Given the description of an element on the screen output the (x, y) to click on. 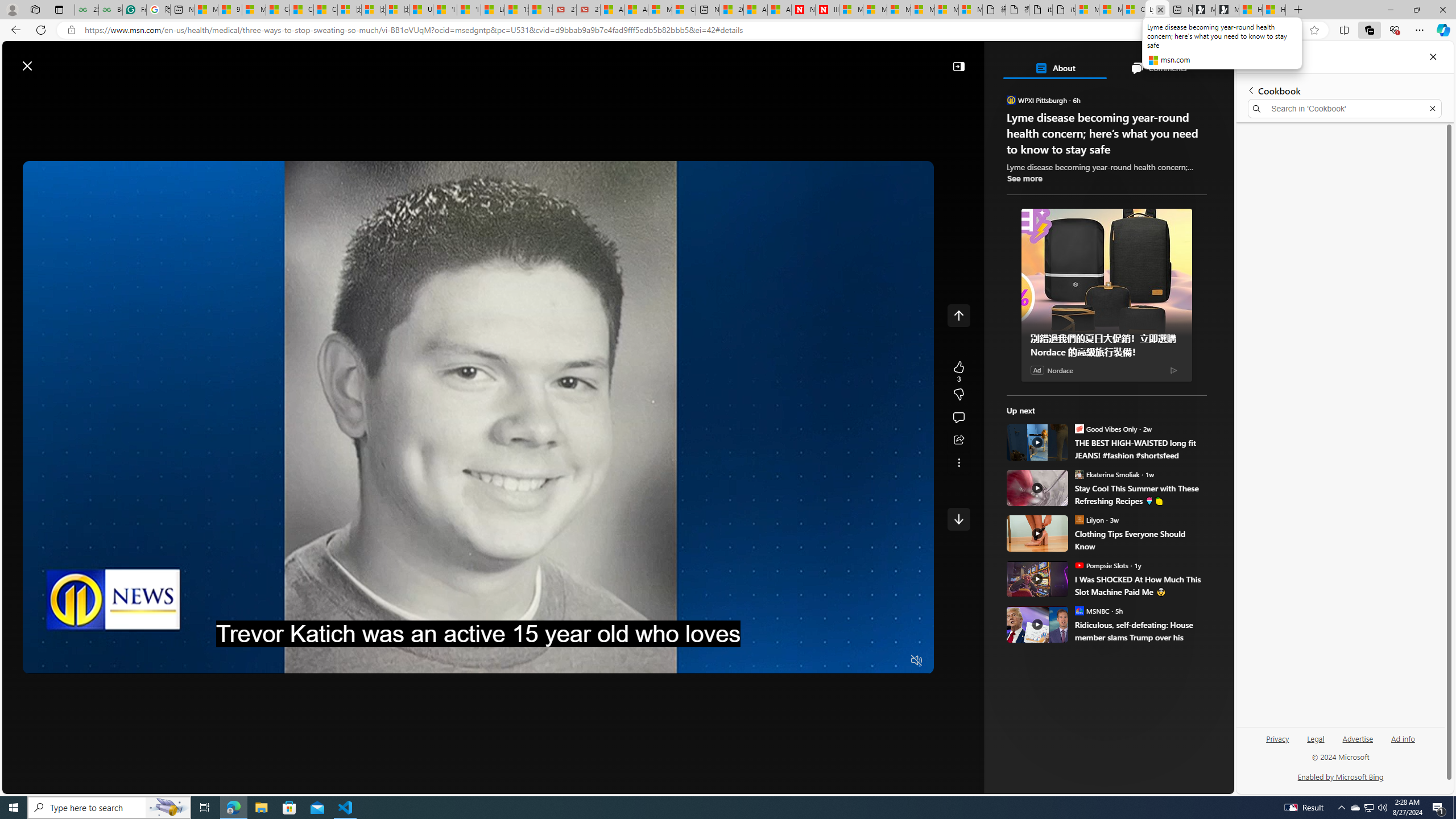
About (1054, 67)
Pause (39, 660)
Discover (213, 92)
Free AI Writing Assistance for Students | Grammarly (134, 9)
Collapse (958, 65)
WPXI Pittsburgh (1011, 99)
Privacy (1277, 742)
itconcepthk.com/projector_solutions.mp4 (1064, 9)
Good Vibes Only (1079, 428)
New tab (1180, 9)
Clothing Tips Everyone Should Know (1037, 533)
MSNBC MSNBC (1091, 610)
